Given the description of an element on the screen output the (x, y) to click on. 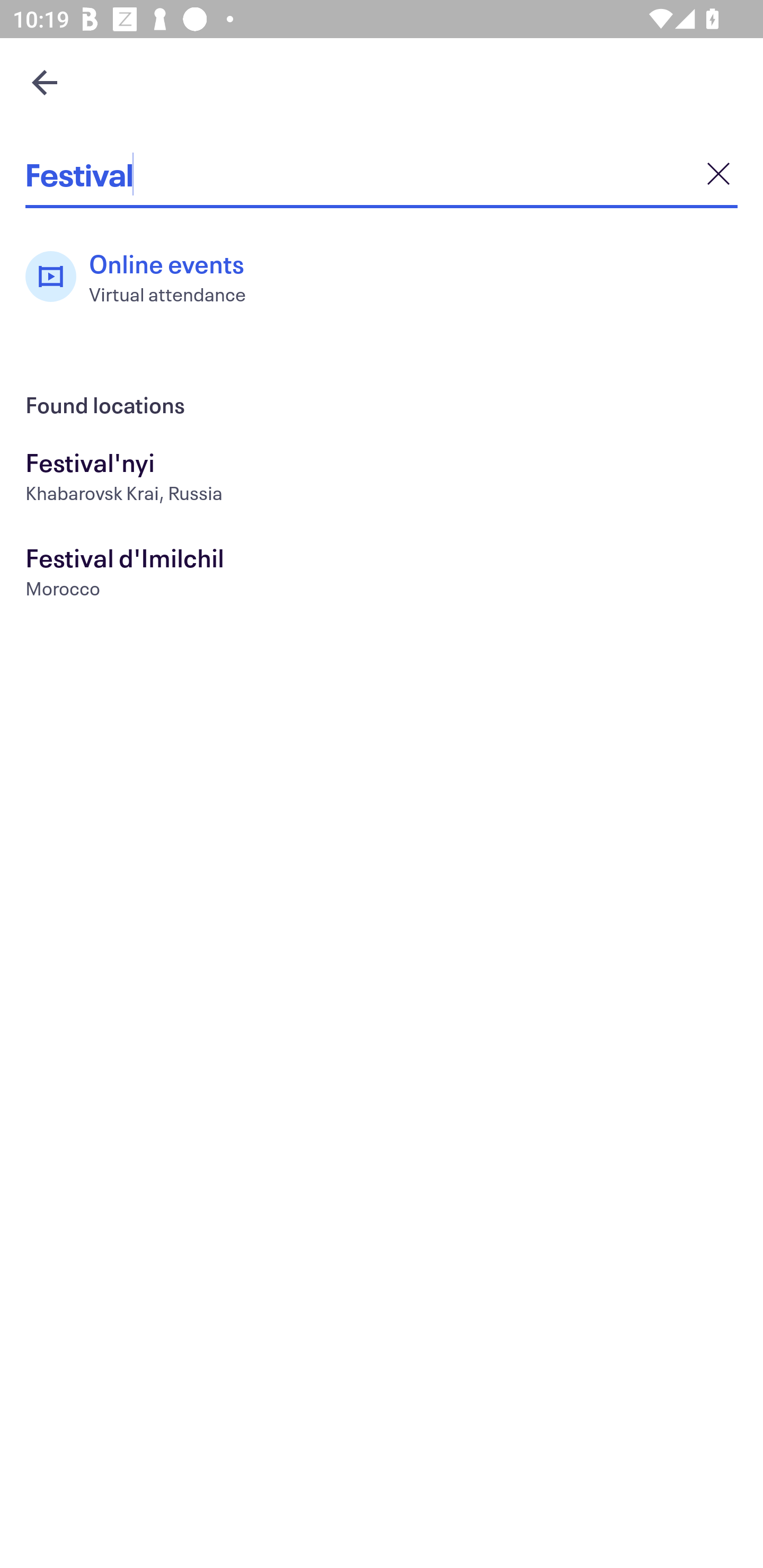
Navigate up (44, 82)
Festival (381, 173)
Online events Virtual attendance (144, 276)
Festival'nyi Khabarovsk Krai, Russia (381, 479)
Festival d'Imilchil Morocco (381, 574)
